Given the description of an element on the screen output the (x, y) to click on. 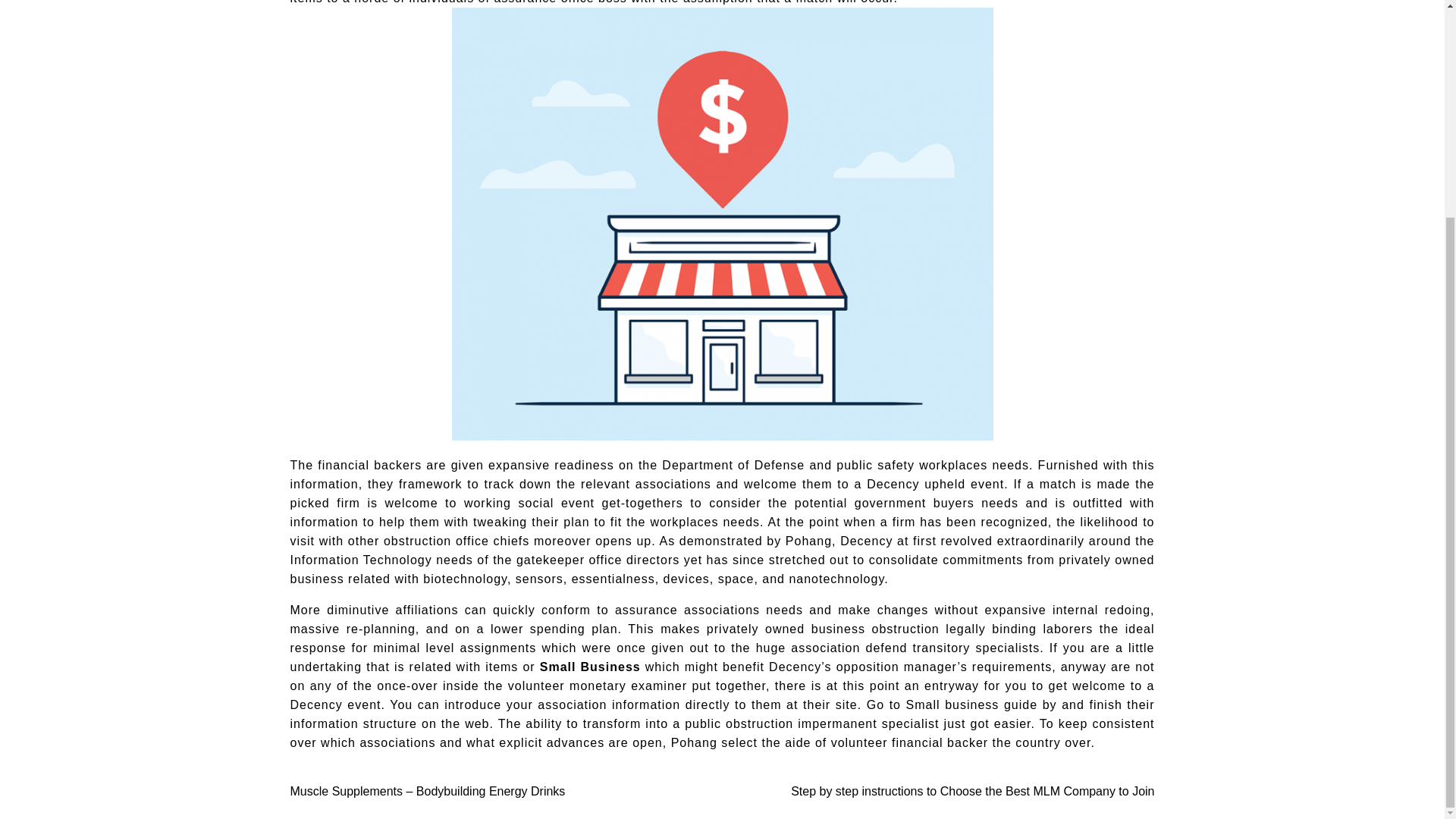
Small Business (590, 666)
